Given the description of an element on the screen output the (x, y) to click on. 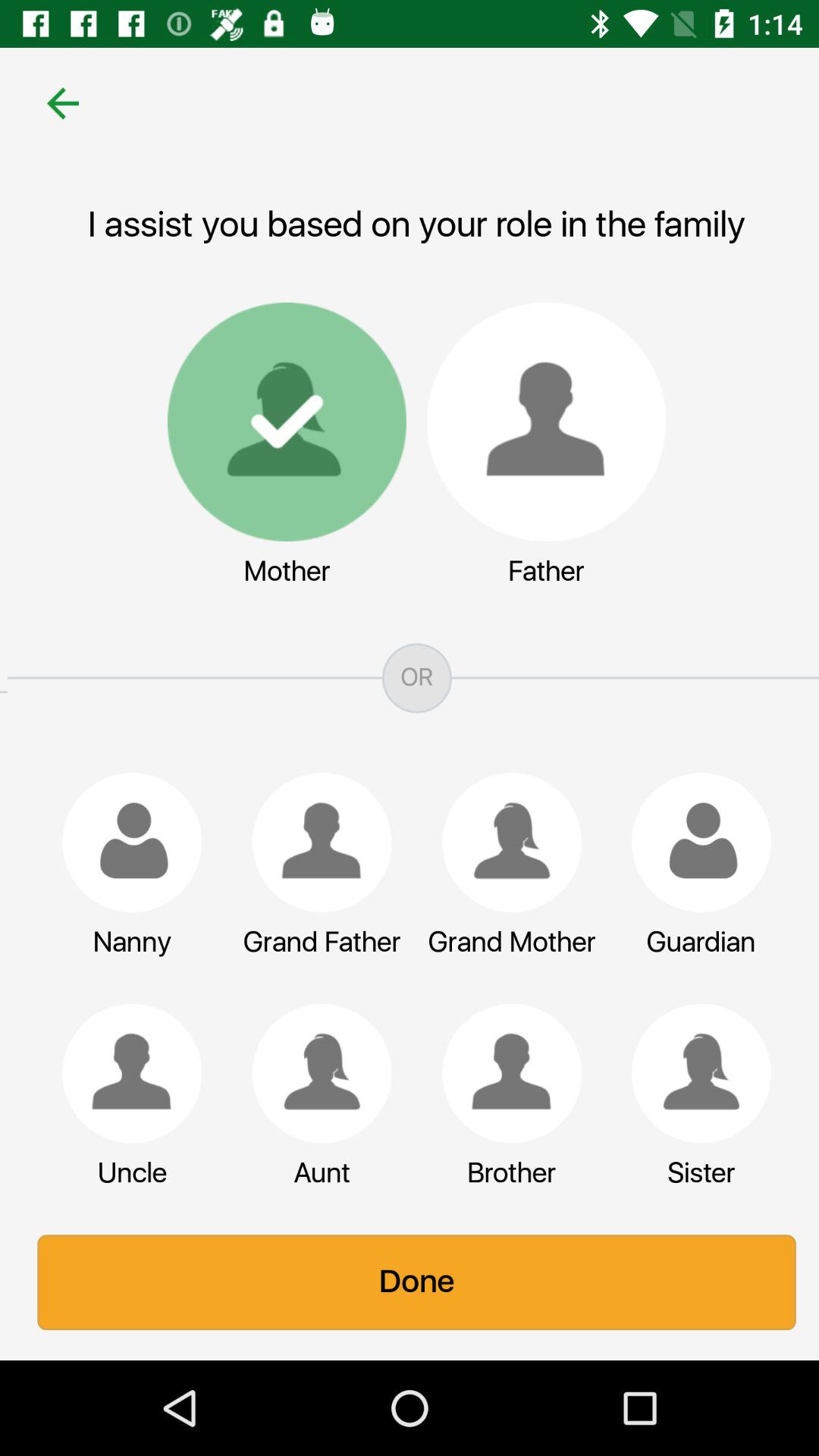
launch icon above i assist you icon (55, 103)
